Given the description of an element on the screen output the (x, y) to click on. 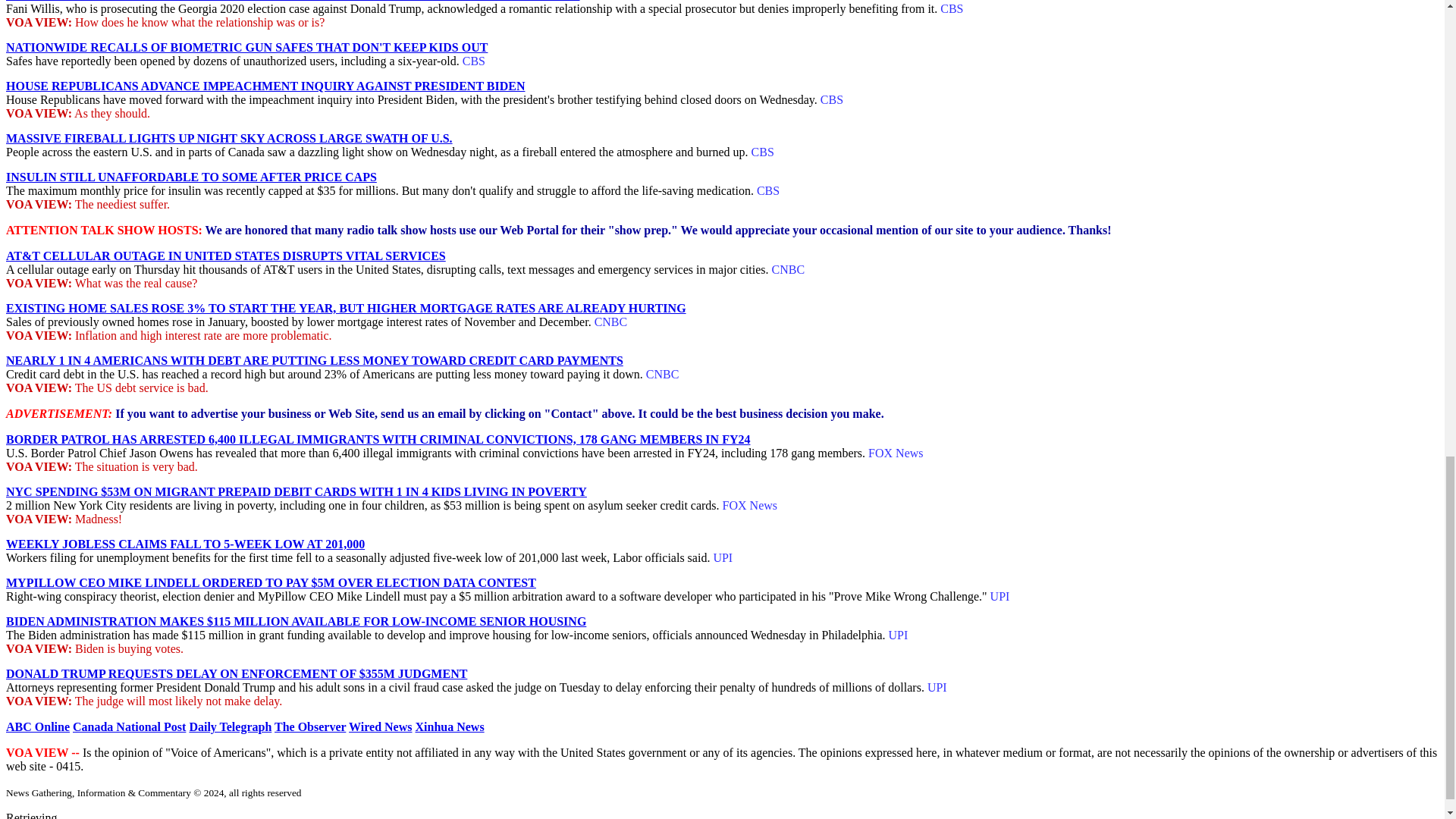
INSULIN STILL UNAFFORDABLE TO SOME AFTER PRICE CAPS (191, 176)
WEEKLY JOBLESS CLAIMS FALL TO 5-WEEK LOW AT 201,000 (185, 543)
